Given the description of an element on the screen output the (x, y) to click on. 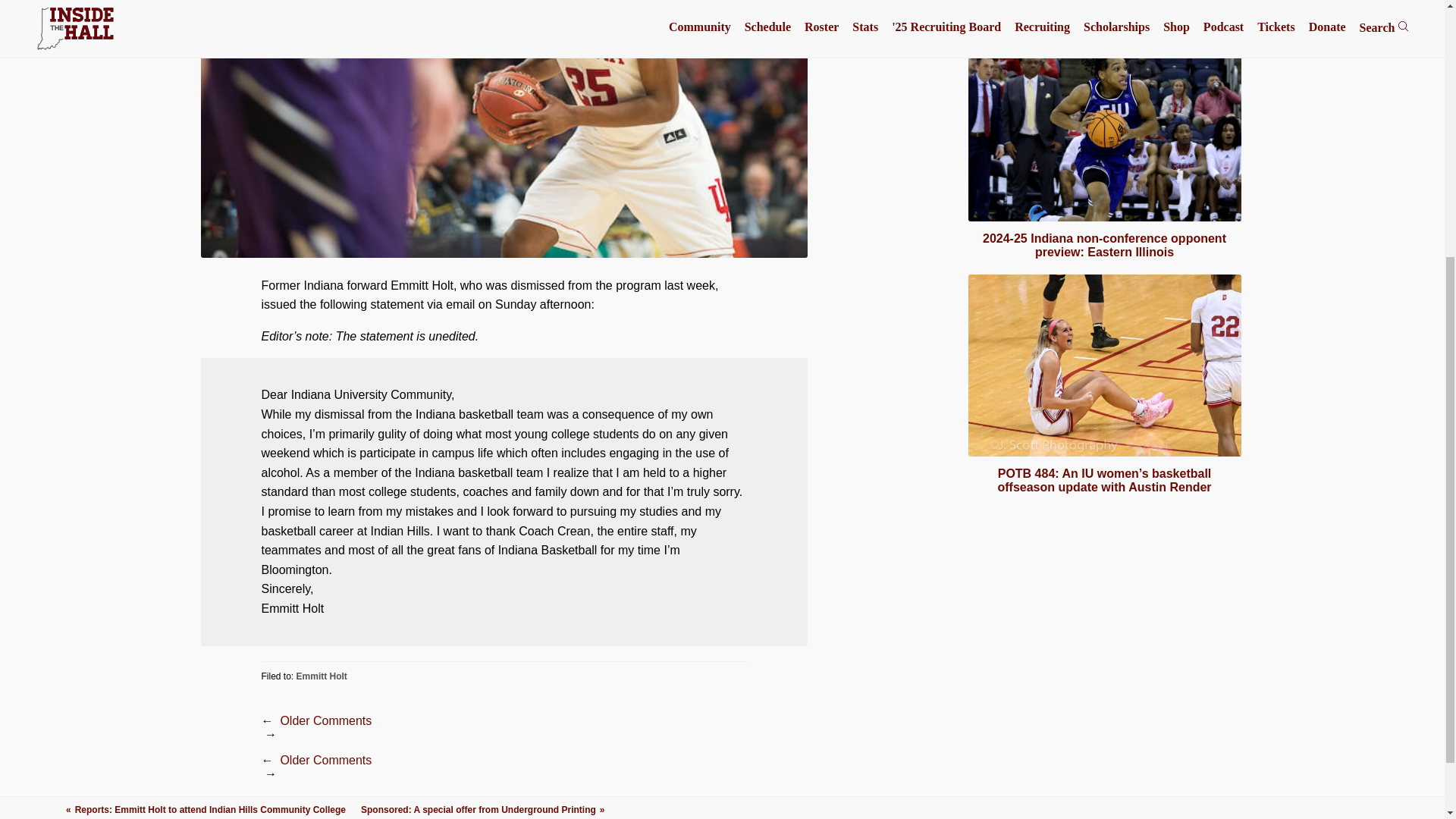
Older Comments (325, 759)
6-Banner Sunday: Assembly Ball falls in third round of TBT (1104, 12)
Sponsored: A special offer from Underground Printing (482, 410)
Emmitt Holt (322, 675)
Older Comments (325, 720)
